Given the description of an element on the screen output the (x, y) to click on. 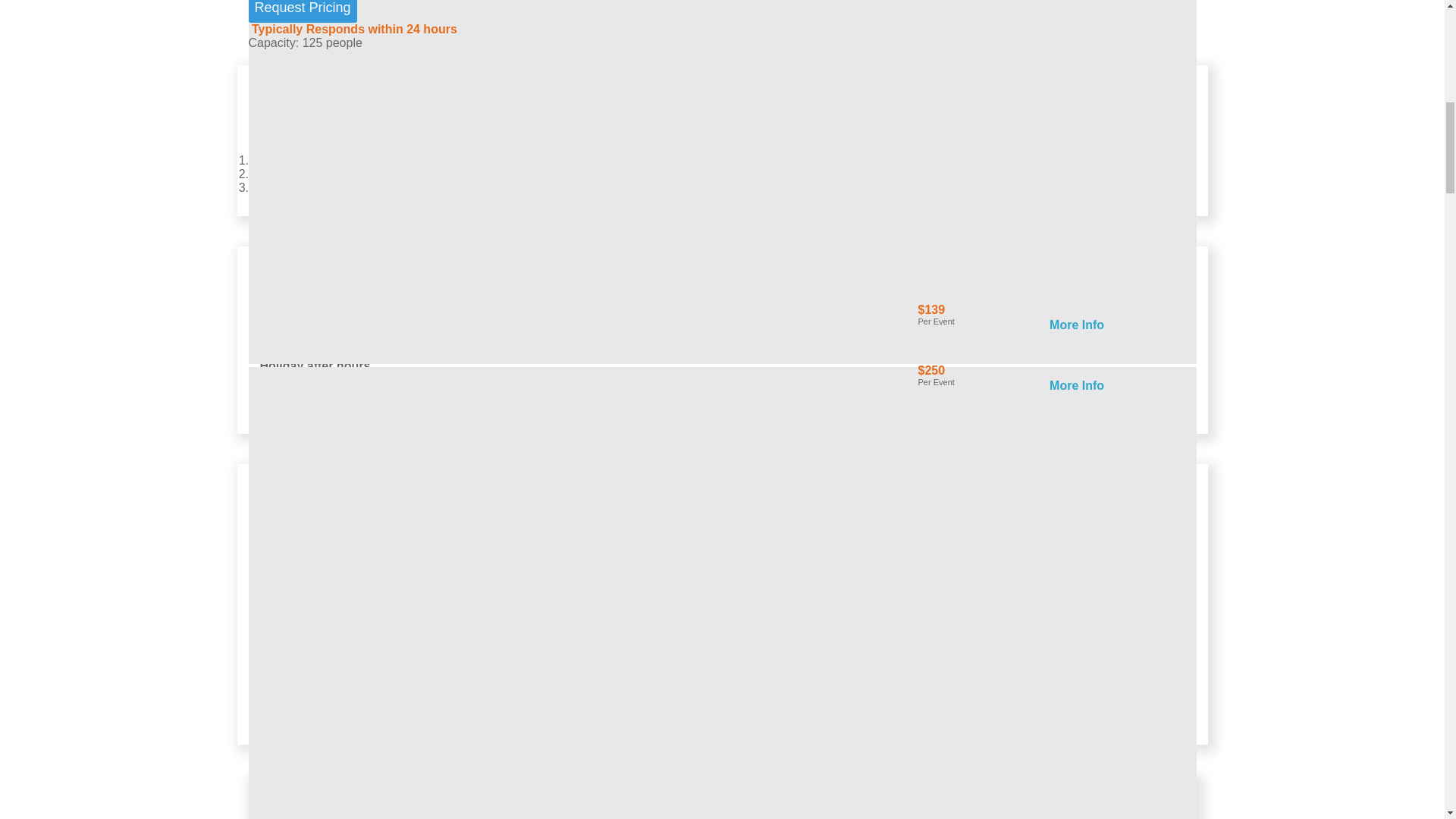
More Info (1076, 324)
More Info (1076, 385)
Request Pricing (302, 11)
More Info (877, 327)
Facebook (277, 173)
Write A Recommendation (319, 721)
More Info (877, 388)
Write A Recommendation (319, 187)
Request Pricing (302, 11)
Website (273, 160)
